Given the description of an element on the screen output the (x, y) to click on. 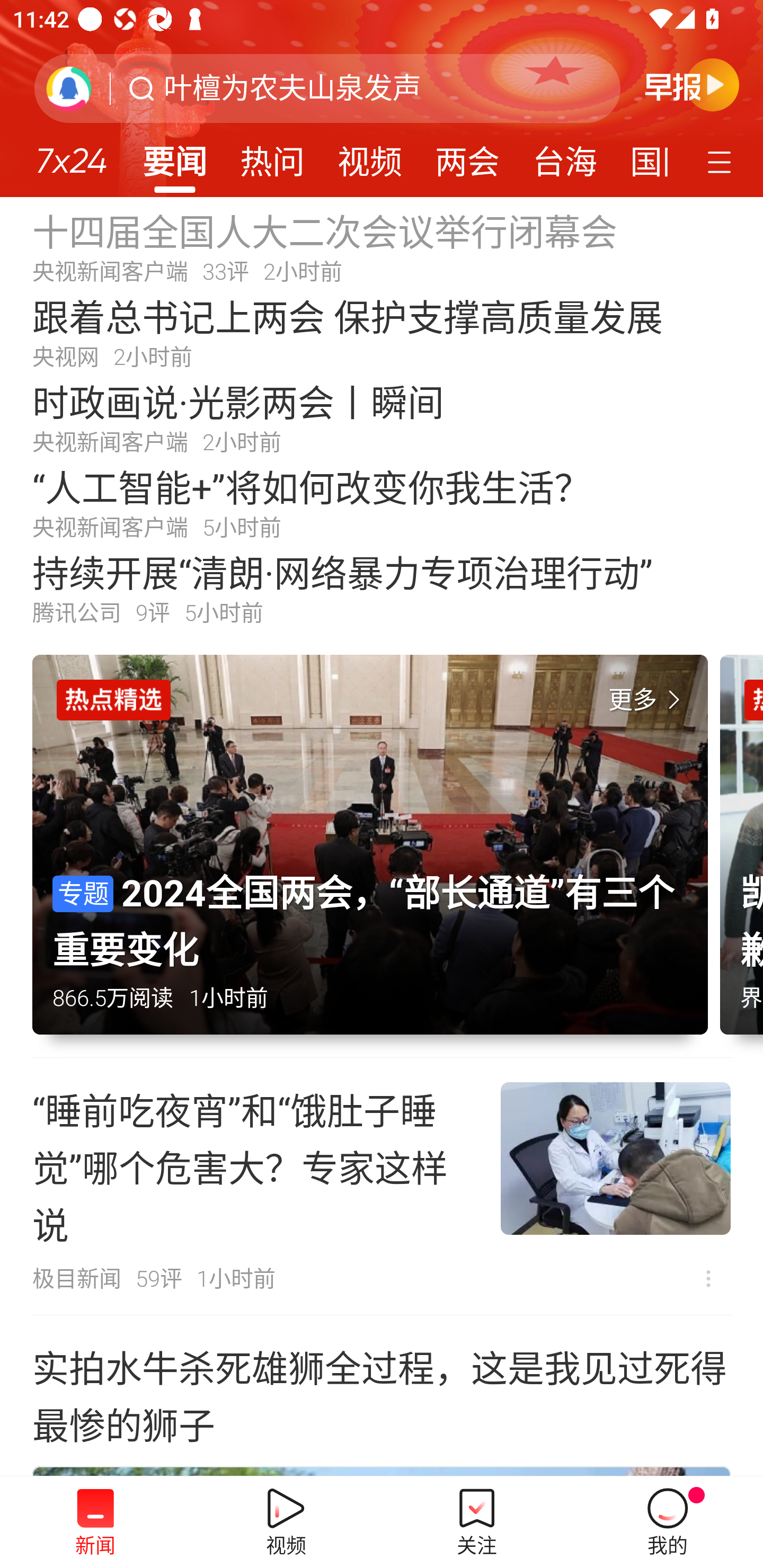
早晚报 (691, 84)
刷新 (68, 88)
叶檀为农夫山泉发声 (292, 88)
7x24 (70, 154)
要闻 (174, 155)
热问 (272, 155)
视频 (369, 155)
两会 (466, 155)
台海 (564, 155)
 定制频道 (721, 160)
十四届全国人大二次会议举行闭幕会 央视新闻客户端 33评 2小时前 (381, 245)
跟着总书记上两会 保护支撑高质量发展 央视网 2小时前 (381, 331)
时政画说·光影两会丨瞬间 央视新闻客户端 2小时前 (381, 416)
“人工智能+”将如何改变你我生活？ 央视新闻客户端 5小时前 (381, 502)
持续开展“清朗·网络暴力专项治理行动” 腾讯公司 9评 5小时前 (381, 587)
更多  专题2024全国两会，“部长通道”有三个重要变化 866.5万阅读   1小时前 (376, 855)
更多  (648, 699)
“睡前吃夜宵”和“饿肚子睡觉”哪个危害大？专家这样说 极目新闻 59评 1小时前  不感兴趣 (381, 1186)
 不感兴趣 (707, 1278)
实拍水牛杀死雄狮全过程，这是我见过死得最惨的狮子 (381, 1394)
